Given the description of an element on the screen output the (x, y) to click on. 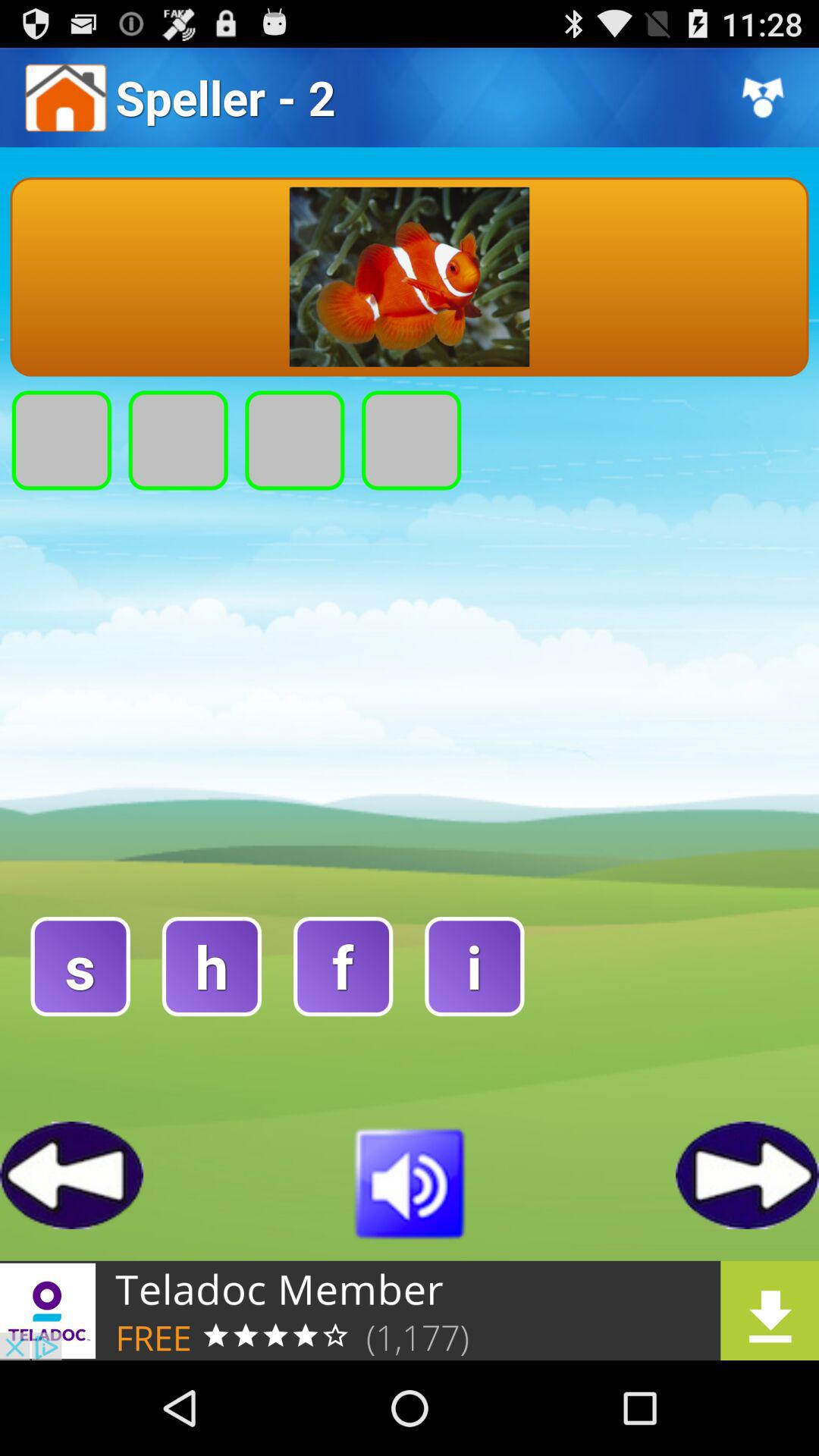
mute sound (409, 1181)
